Given the description of an element on the screen output the (x, y) to click on. 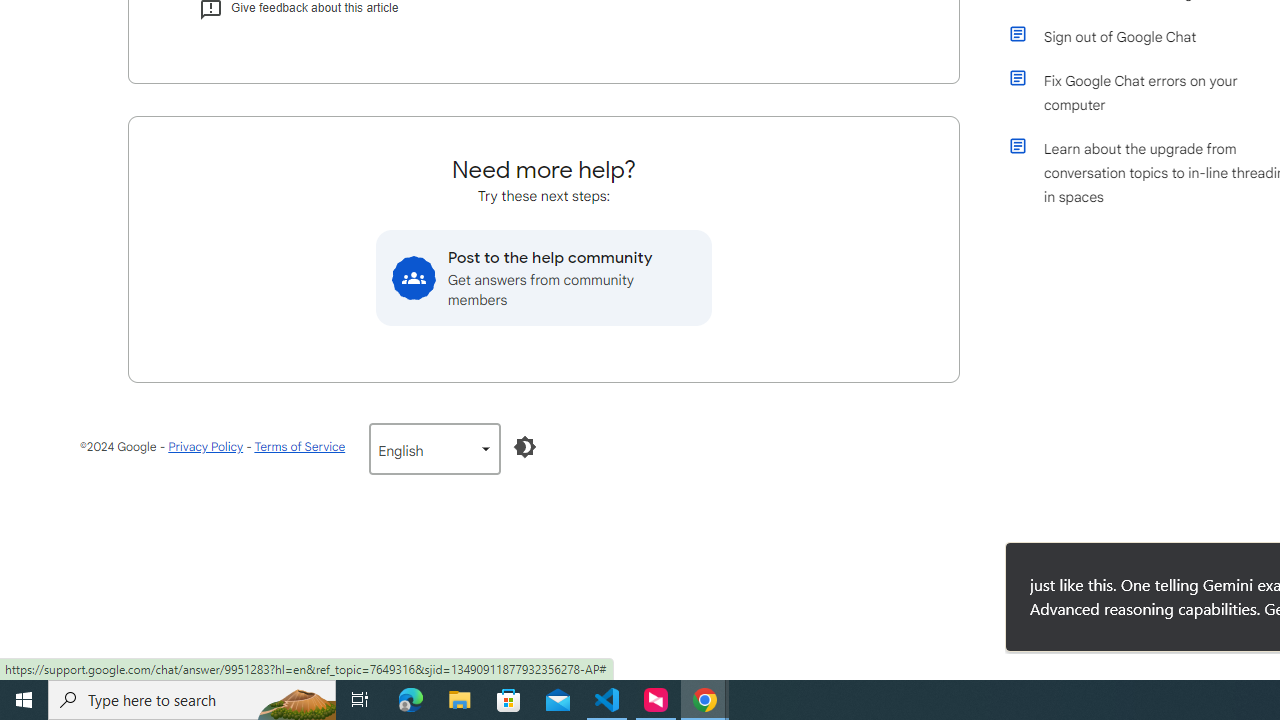
Enable Dark Mode (525, 446)
